Given the description of an element on the screen output the (x, y) to click on. 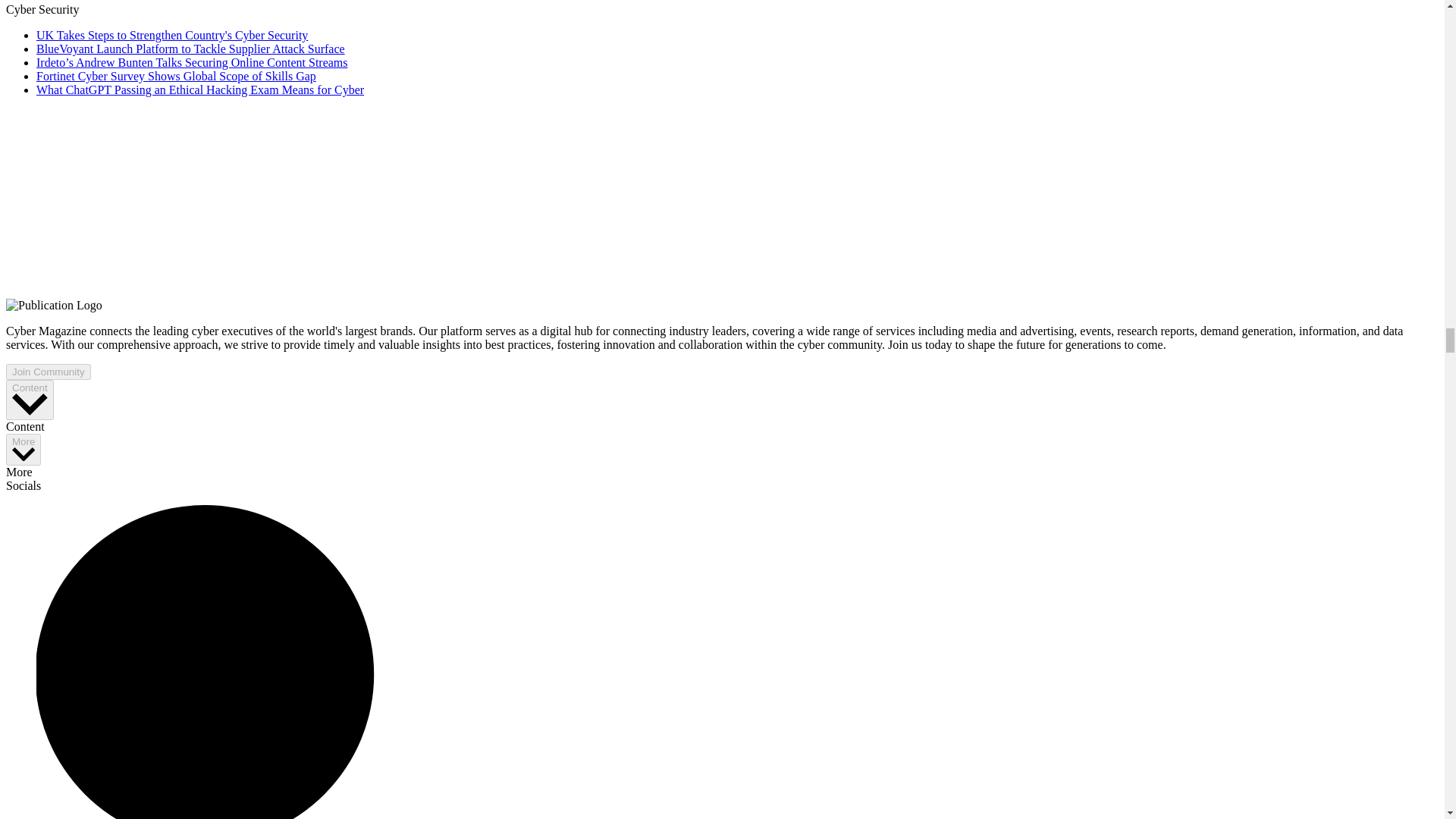
Join Community (47, 371)
More (22, 450)
Content (29, 400)
